Given the description of an element on the screen output the (x, y) to click on. 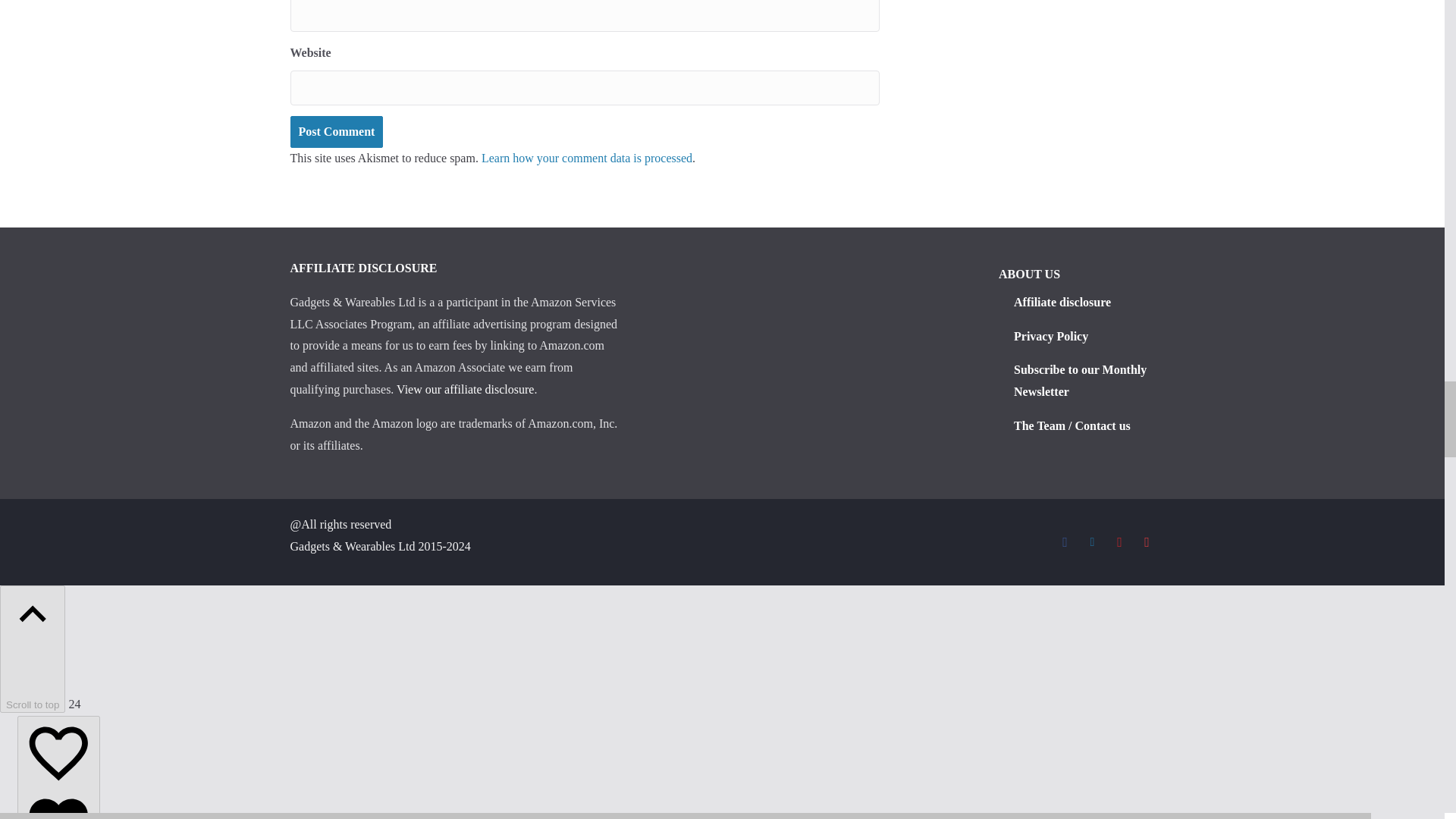
Post Comment (335, 131)
